Given the description of an element on the screen output the (x, y) to click on. 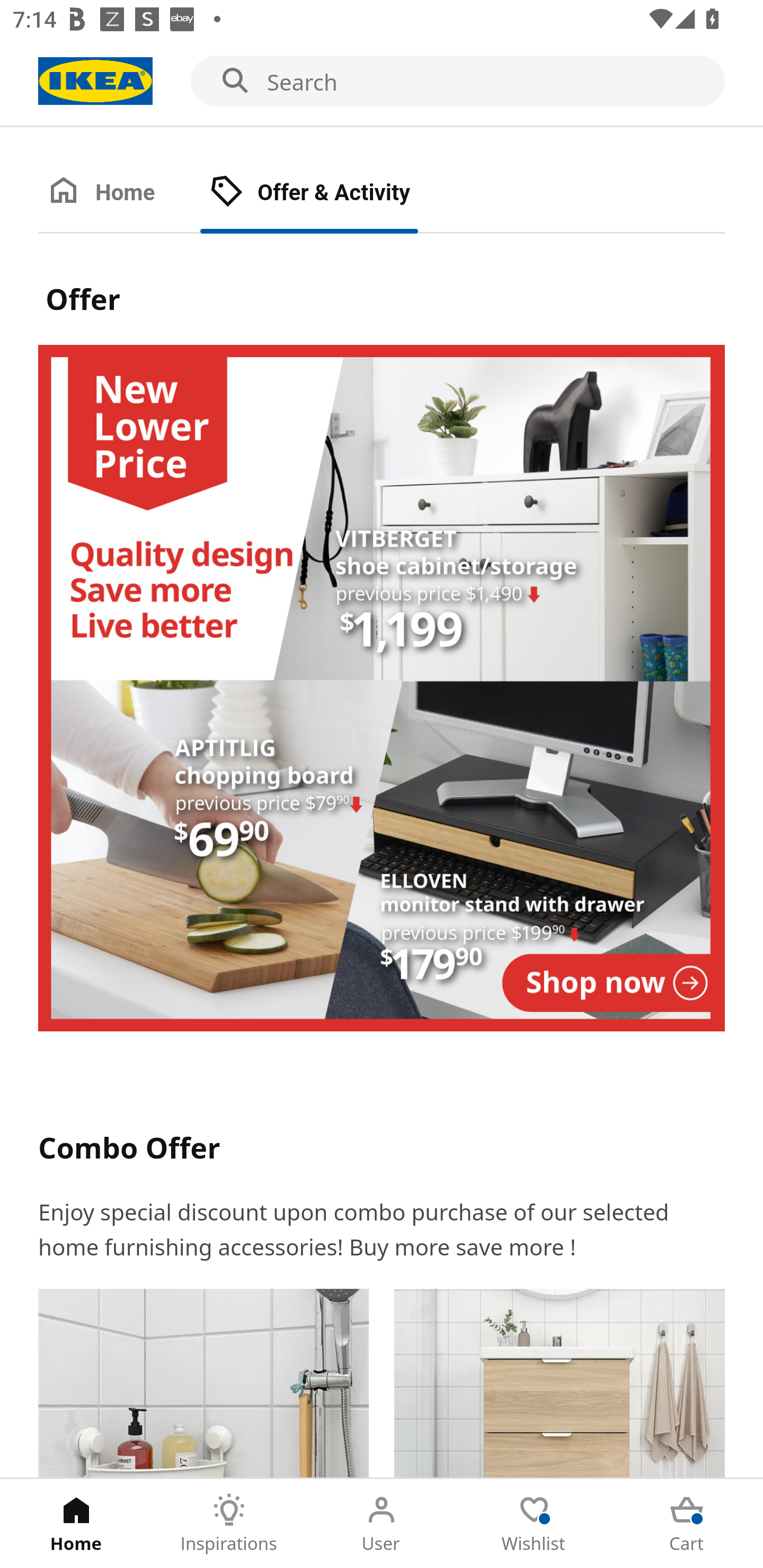
Search (381, 81)
Home
Tab 1 of 2 (118, 192)
Offer & Activity
Tab 2 of 2 (327, 192)
Home
Tab 1 of 5 (76, 1522)
Inspirations
Tab 2 of 5 (228, 1522)
User
Tab 3 of 5 (381, 1522)
Wishlist
Tab 4 of 5 (533, 1522)
Cart
Tab 5 of 5 (686, 1522)
